Given the description of an element on the screen output the (x, y) to click on. 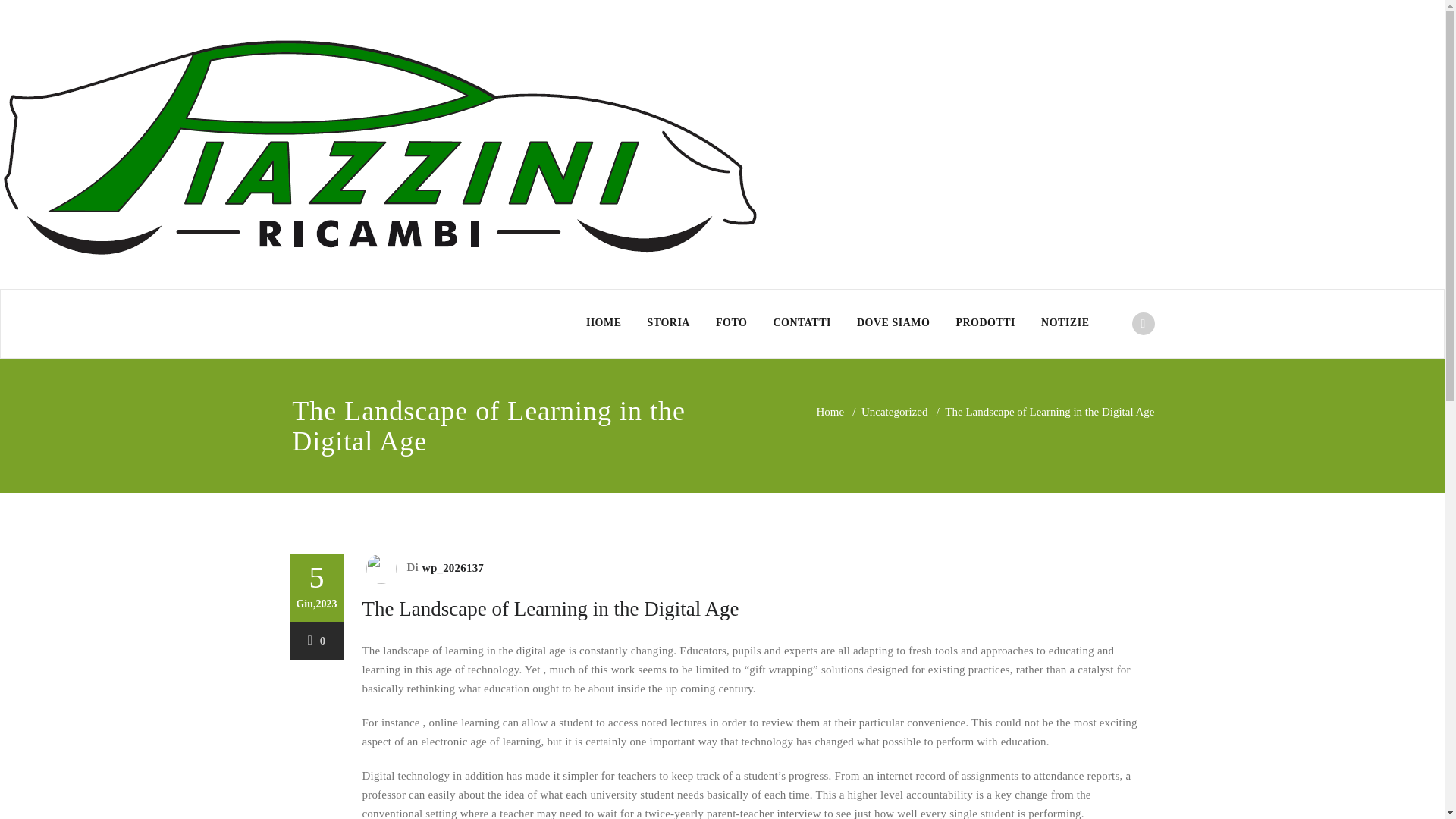
FOTO (731, 322)
DOVE SIAMO (893, 322)
The Landscape of Learning in the Digital Age (550, 608)
HOME (603, 322)
Uncategorized (894, 411)
PRODOTTI (984, 322)
0 (316, 640)
STORIA (668, 322)
CONTATTI (802, 322)
Home (829, 411)
